Given the description of an element on the screen output the (x, y) to click on. 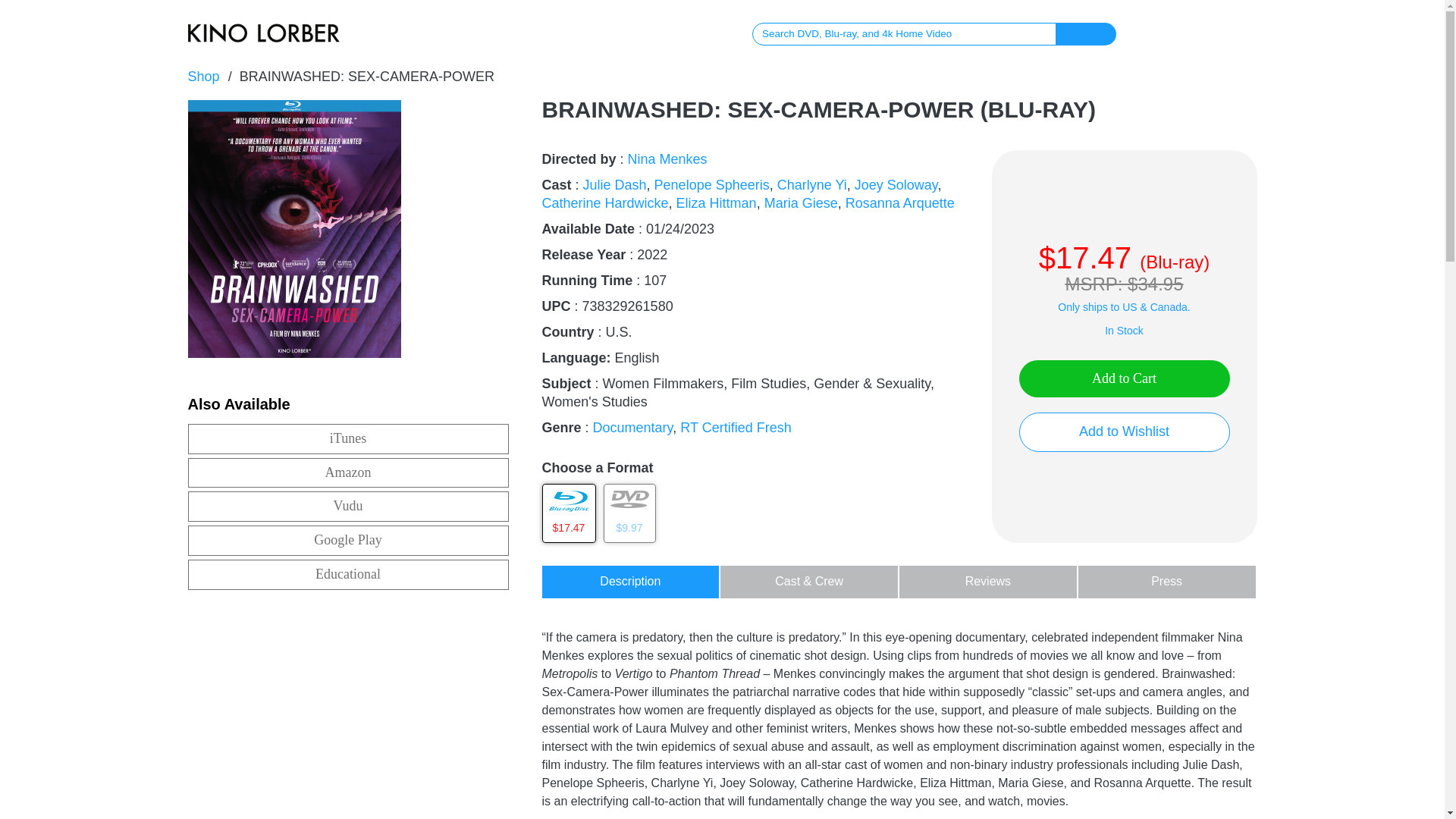
Rosanna Arquette (900, 202)
Eliza Hittman (717, 202)
Joey Soloway (895, 184)
Maria Giese (801, 202)
Catherine Hardwicke (604, 202)
Nina Menkes (667, 159)
RT Certified Fresh (734, 427)
Penelope Spheeris (711, 184)
Charlyne Yi (812, 184)
Documentary (632, 427)
Julie Dash (614, 184)
